Given the description of an element on the screen output the (x, y) to click on. 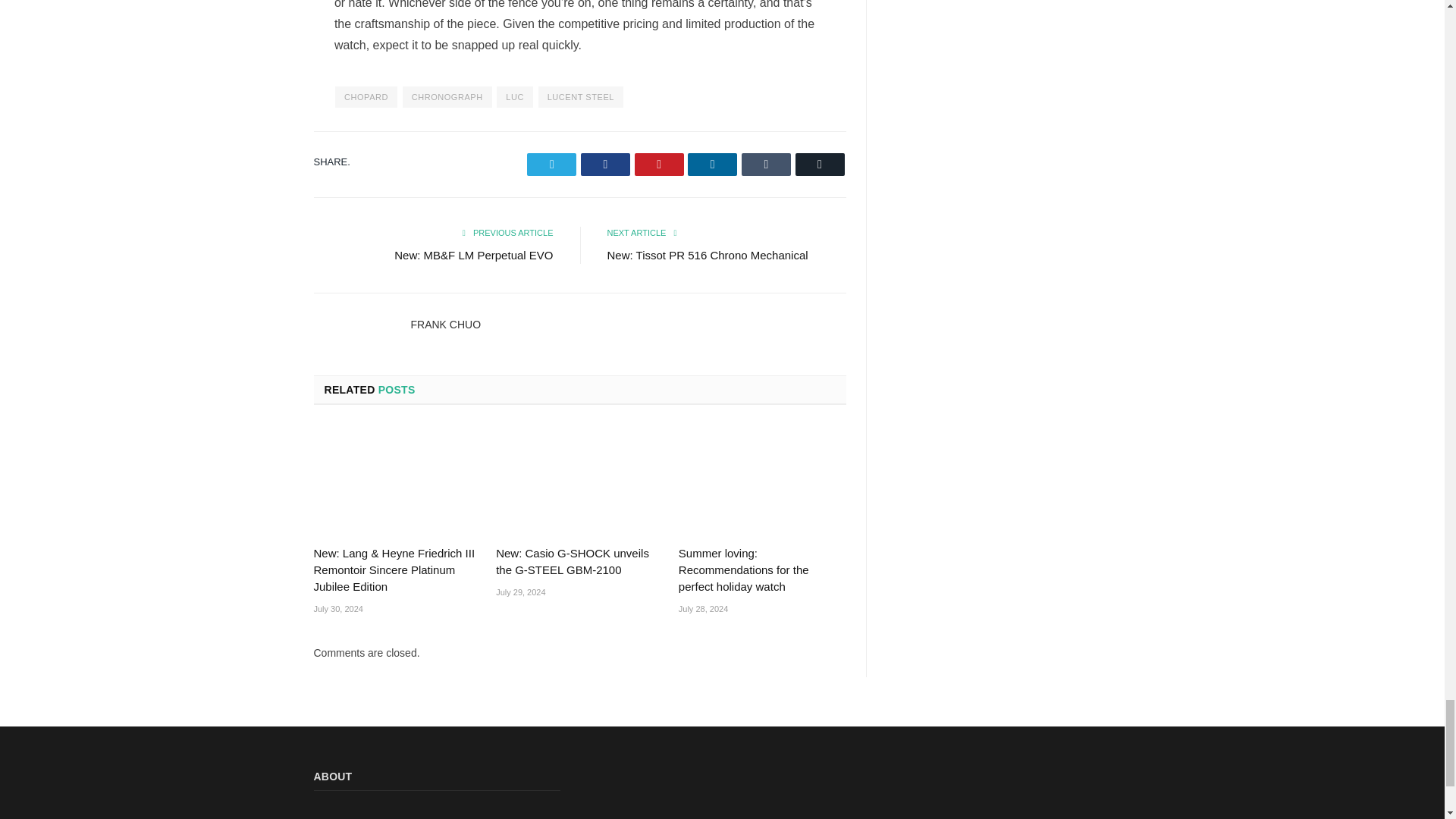
CHRONOGRAPH (447, 96)
New: Casio G-SHOCK unveils the G-STEEL GBM-2100 (579, 480)
Share via Email (819, 164)
Share on Facebook (605, 164)
Share on Pinterest (659, 164)
Posts by Frank Chuo (445, 324)
Tweet It (551, 164)
CHOPARD (365, 96)
Share on LinkedIn (711, 164)
Facebook (605, 164)
LUC (514, 96)
LUCENT STEEL (580, 96)
Twitter (551, 164)
Share on Tumblr (765, 164)
